Given the description of an element on the screen output the (x, y) to click on. 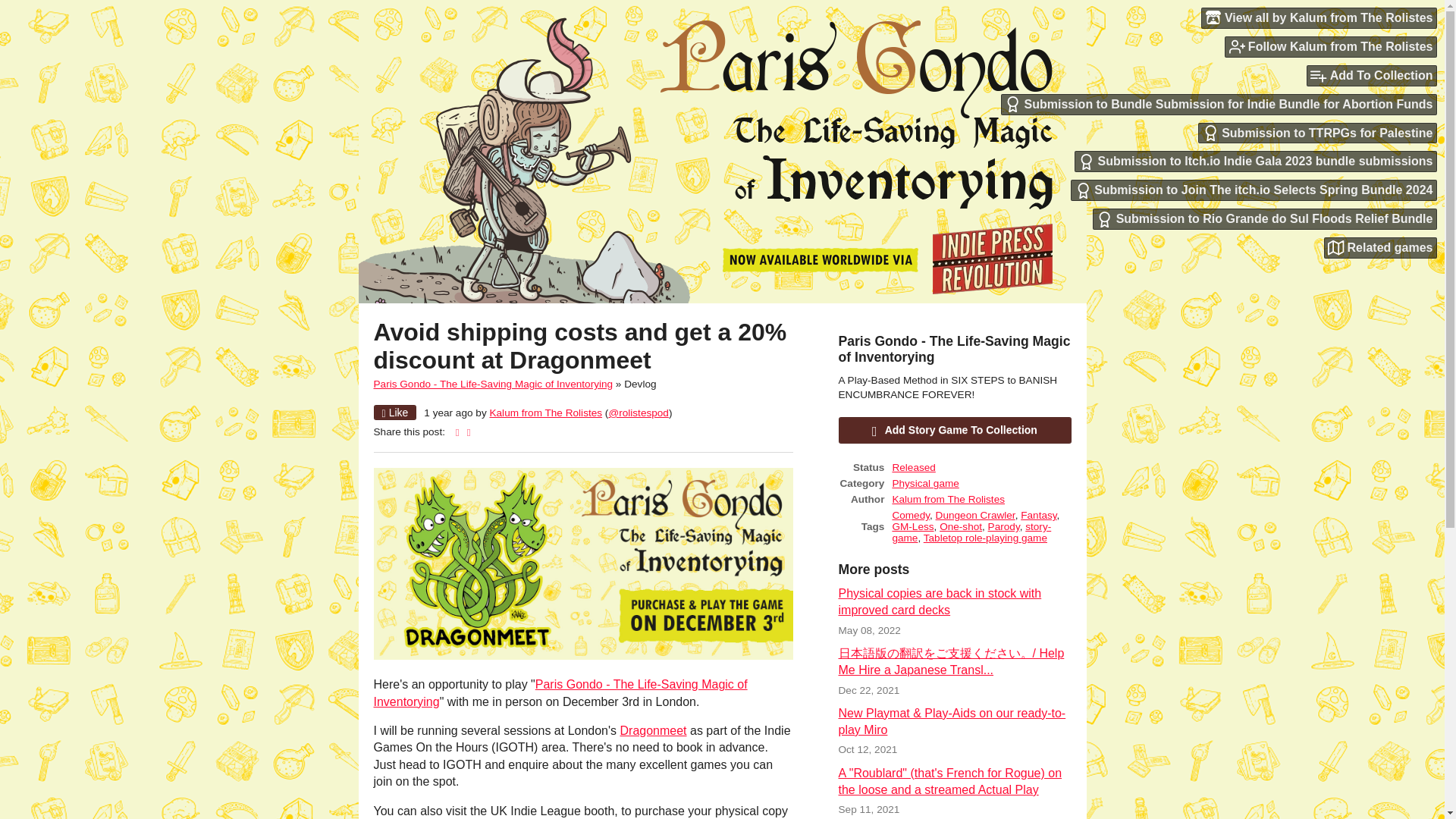
Comedy (910, 514)
2022-11-18 12:23:55 (447, 412)
Submission to Join The itch.io Selects Spring Bundle 2024 (1253, 189)
Follow Kalum from The Rolistes (1330, 46)
Submission to TTRPGs for Palestine (1317, 133)
Parody (1004, 526)
Physical copies are back in stock with improved card decks (940, 601)
Submission to Itch.io Indie Gala 2023 bundle submissions (1255, 160)
Tabletop role-playing game (984, 537)
One-shot (960, 526)
